Given the description of an element on the screen output the (x, y) to click on. 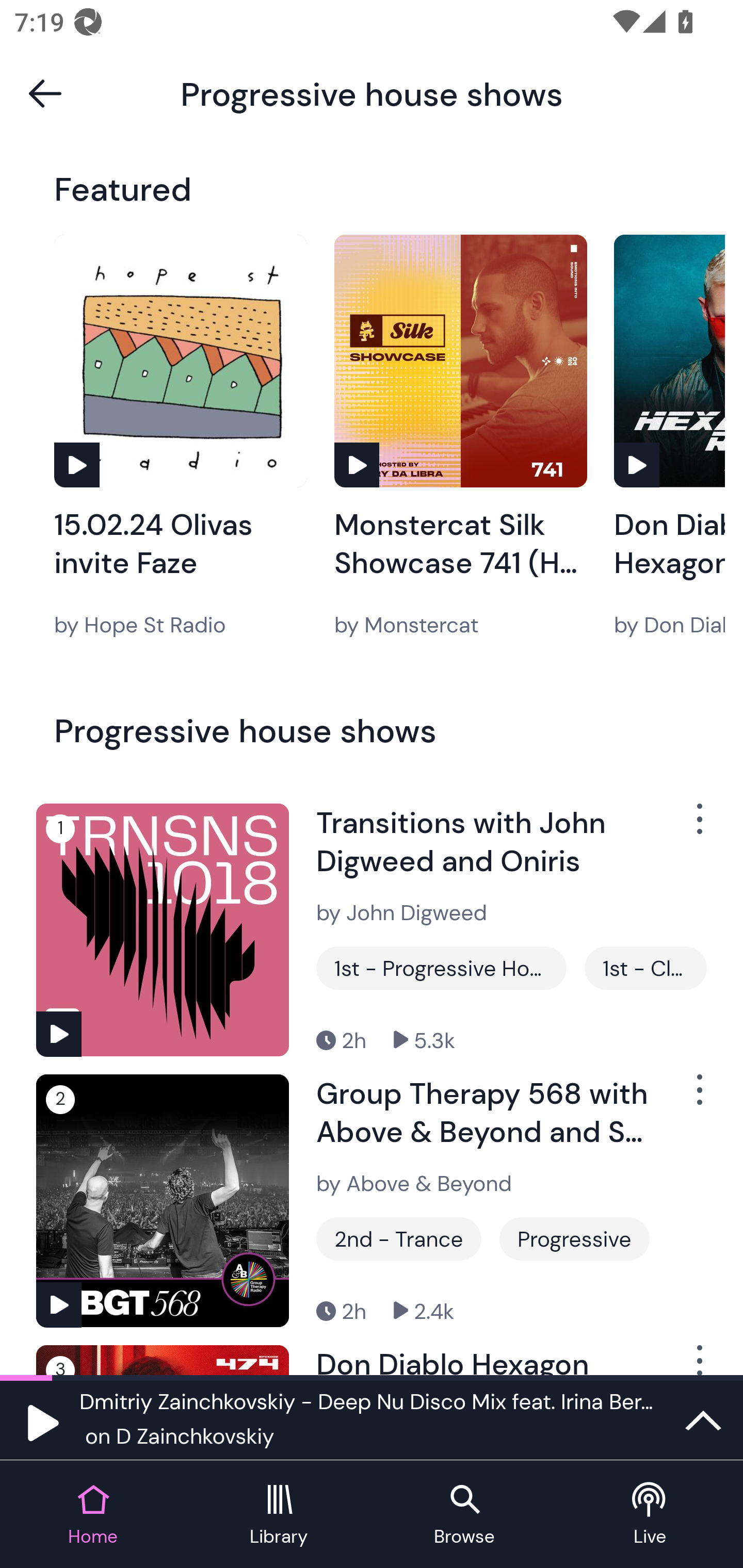
Show Options Menu Button (697, 825)
1st - Progressive House (441, 968)
1st - Club (645, 968)
Show Options Menu Button (697, 1097)
2nd - Trance (398, 1238)
Progressive (574, 1238)
Show Options Menu Button (697, 1360)
Home tab Home (92, 1515)
Library tab Library (278, 1515)
Browse tab Browse (464, 1515)
Live tab Live (650, 1515)
